Given the description of an element on the screen output the (x, y) to click on. 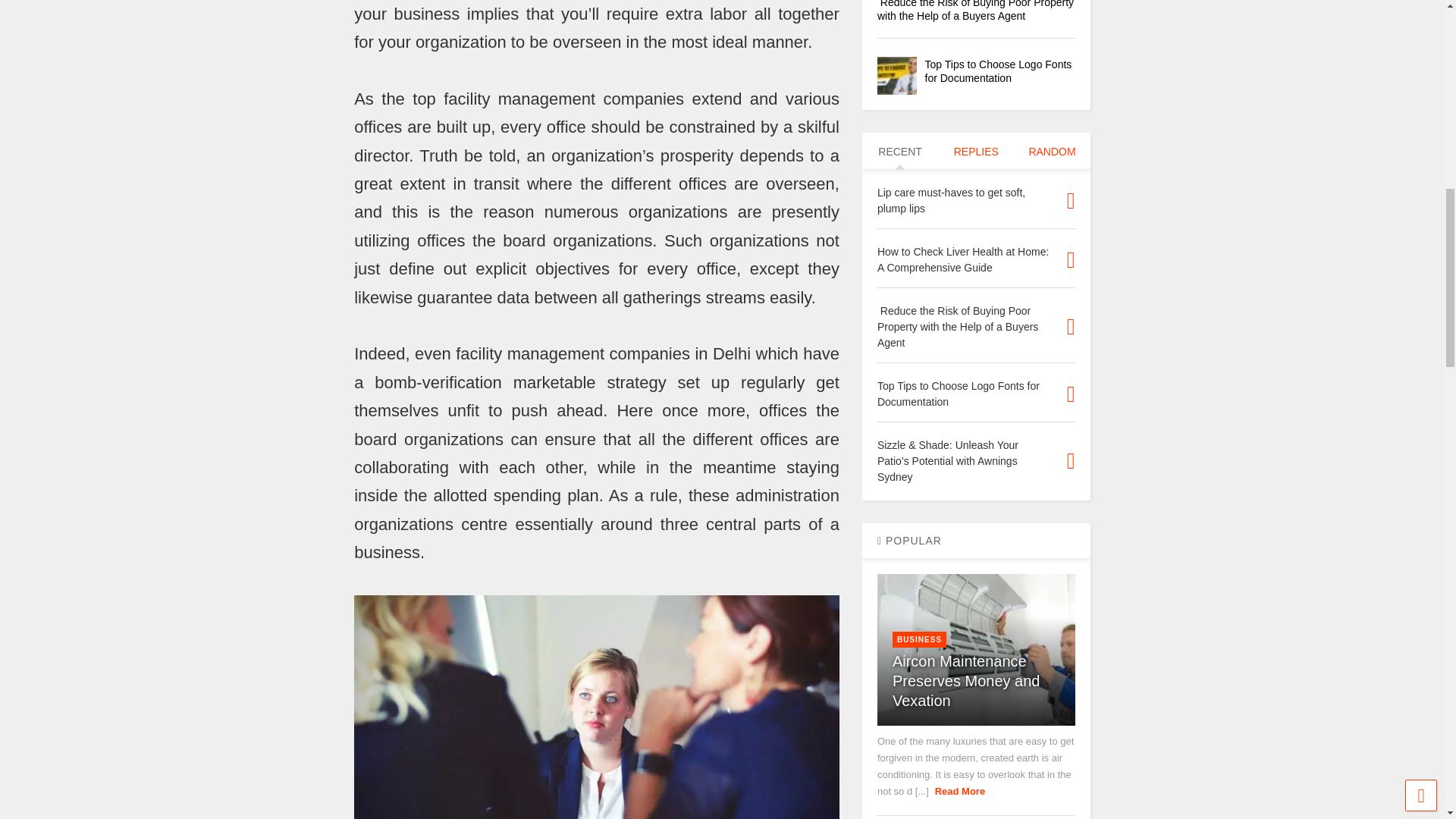
Top Tips to Choose Logo Fonts for Documentation (896, 75)
Top Tips to Choose Logo Fonts for Documentation (997, 71)
